Given the description of an element on the screen output the (x, y) to click on. 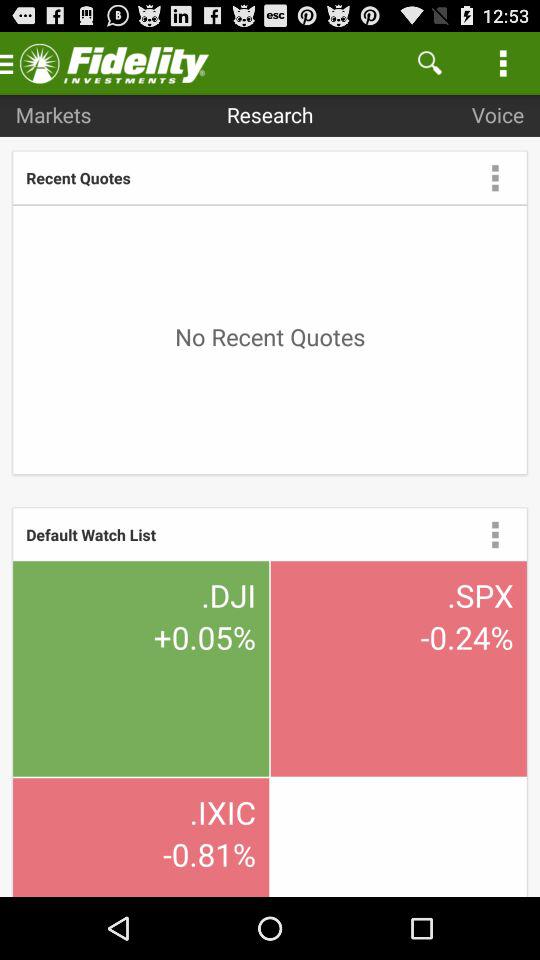
choose the app to the left of research item (53, 114)
